Given the description of an element on the screen output the (x, y) to click on. 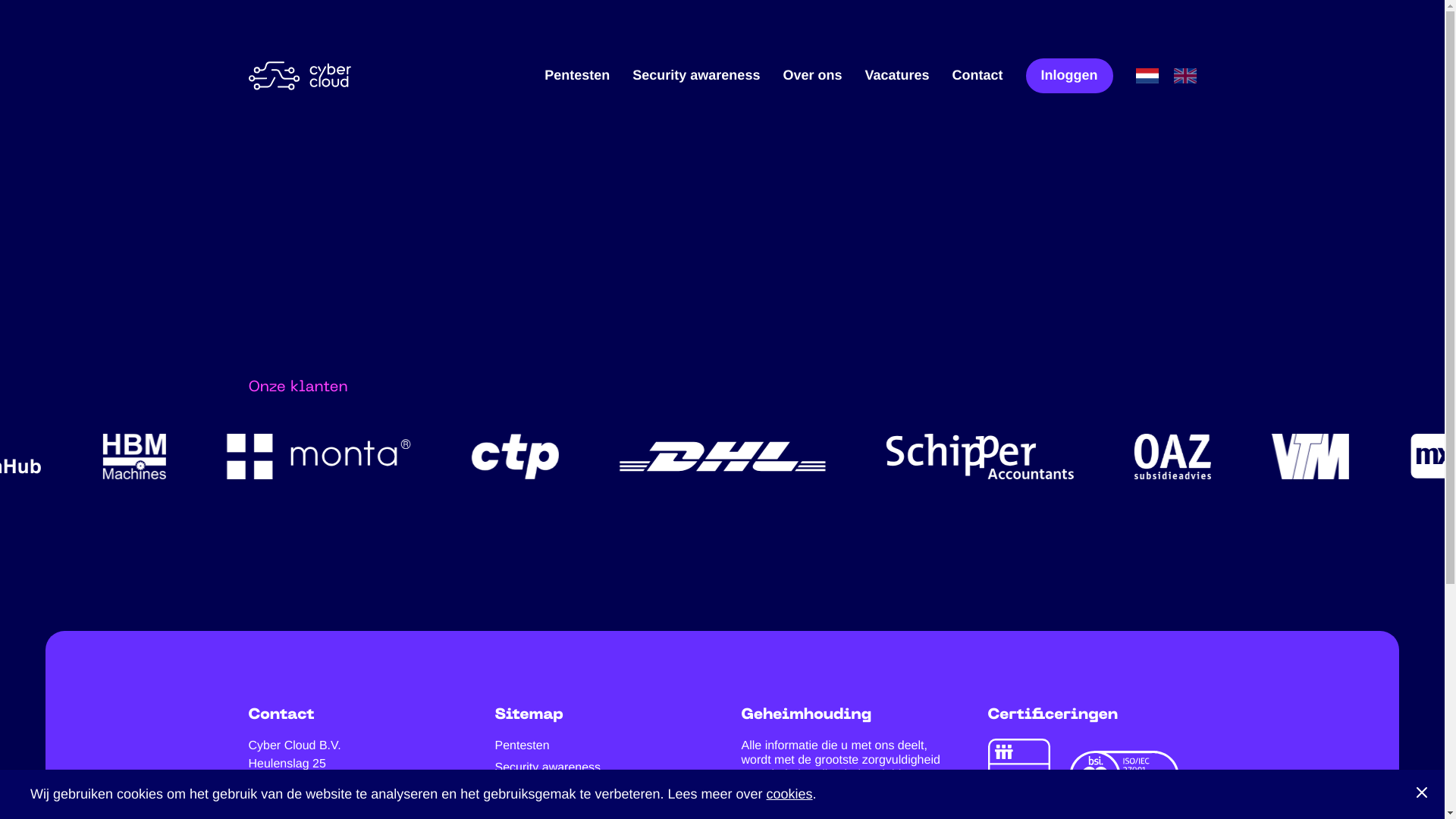
Pentesten Element type: text (521, 745)
Contact Element type: text (977, 75)
Vacatures Element type: text (896, 75)
Engels Element type: hover (1184, 75)
Pentesten Element type: text (576, 75)
Bekijk certificaat Element type: hover (1018, 776)
Over ons Element type: text (518, 789)
Over ons Element type: text (811, 75)
cookies Element type: text (789, 793)
Security awareness Element type: text (547, 767)
Cyber Cloud Element type: hover (299, 75)
Security awareness Element type: text (695, 75)
Inloggen Element type: text (1068, 75)
